Given the description of an element on the screen output the (x, y) to click on. 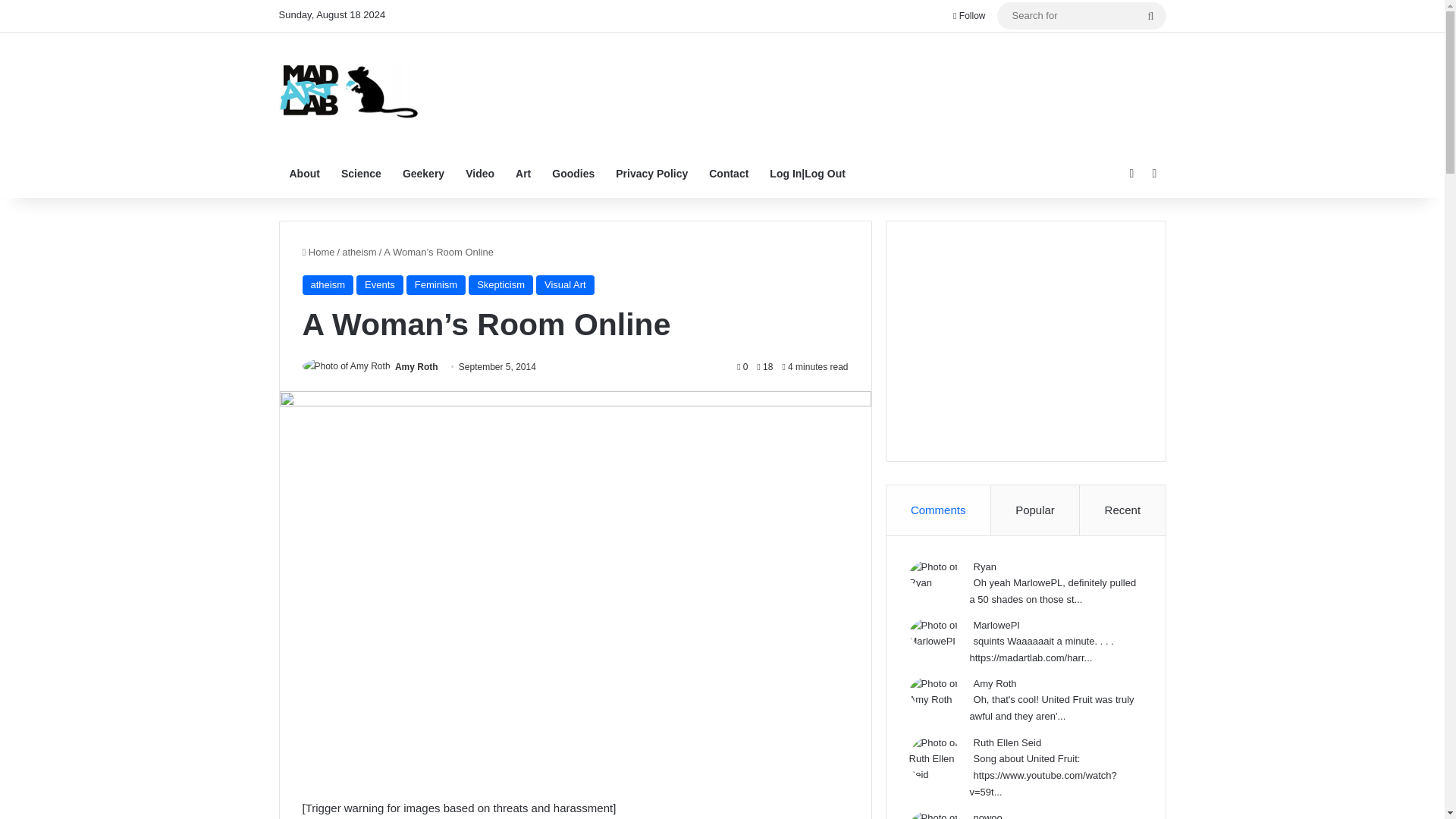
Video (479, 173)
About (304, 173)
Follow (968, 15)
Feminism (435, 284)
Goodies (573, 173)
Search for (1150, 15)
Geekery (422, 173)
Privacy Policy (651, 173)
Amy Roth (416, 366)
Contact (728, 173)
